Given the description of an element on the screen output the (x, y) to click on. 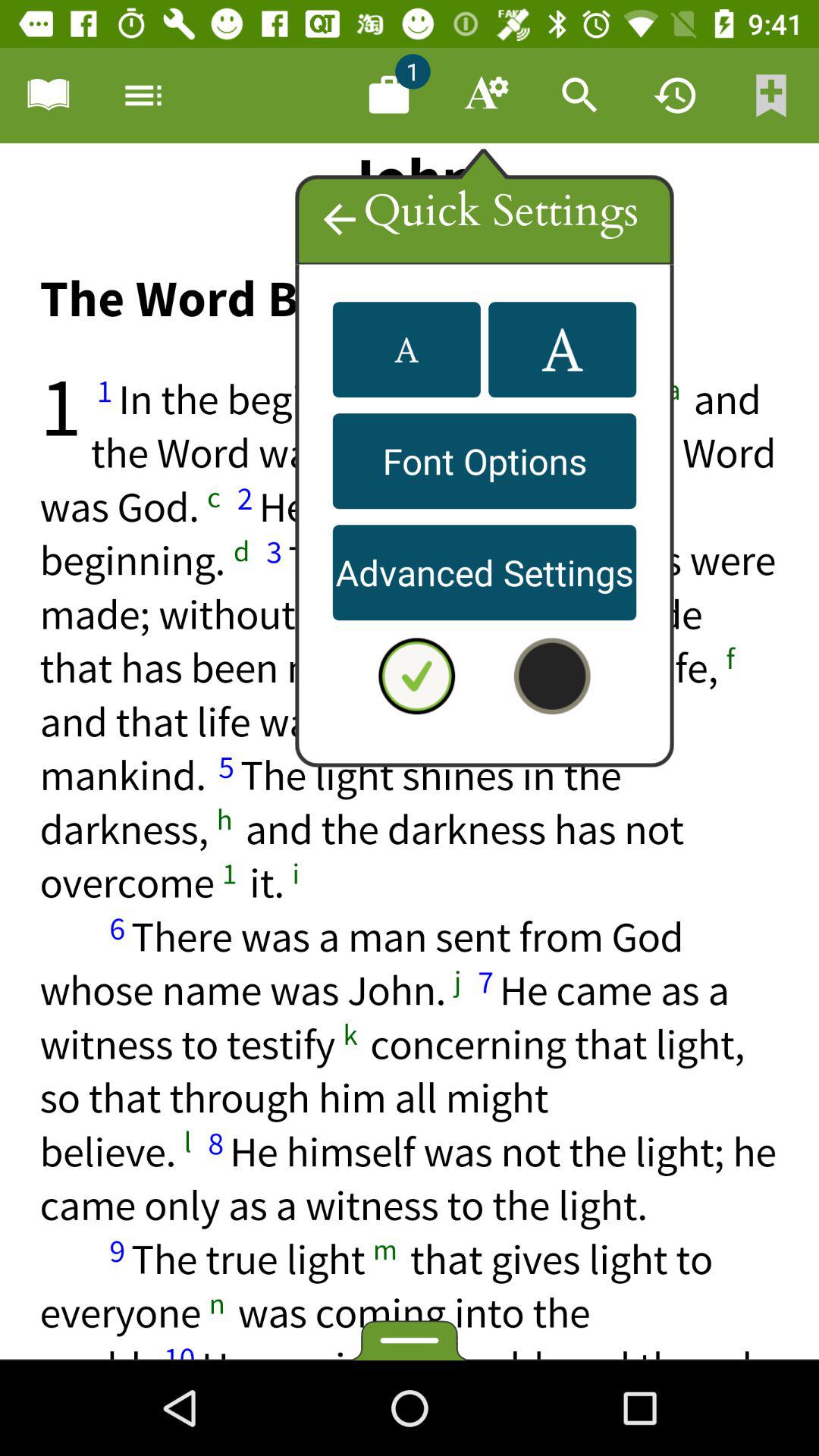
bookmark the selected article (771, 95)
